Given the description of an element on the screen output the (x, y) to click on. 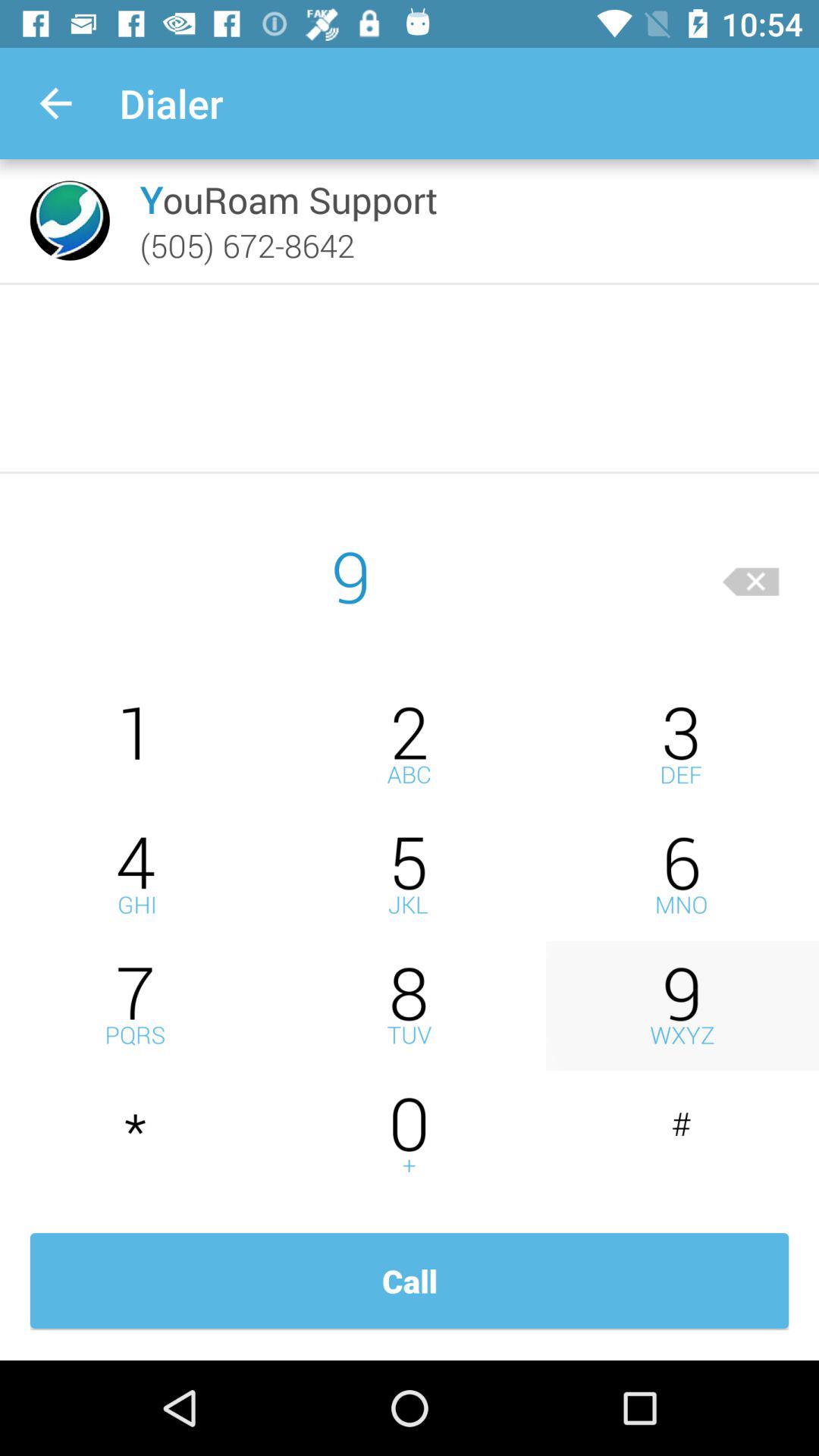
press 2 (409, 745)
